Given the description of an element on the screen output the (x, y) to click on. 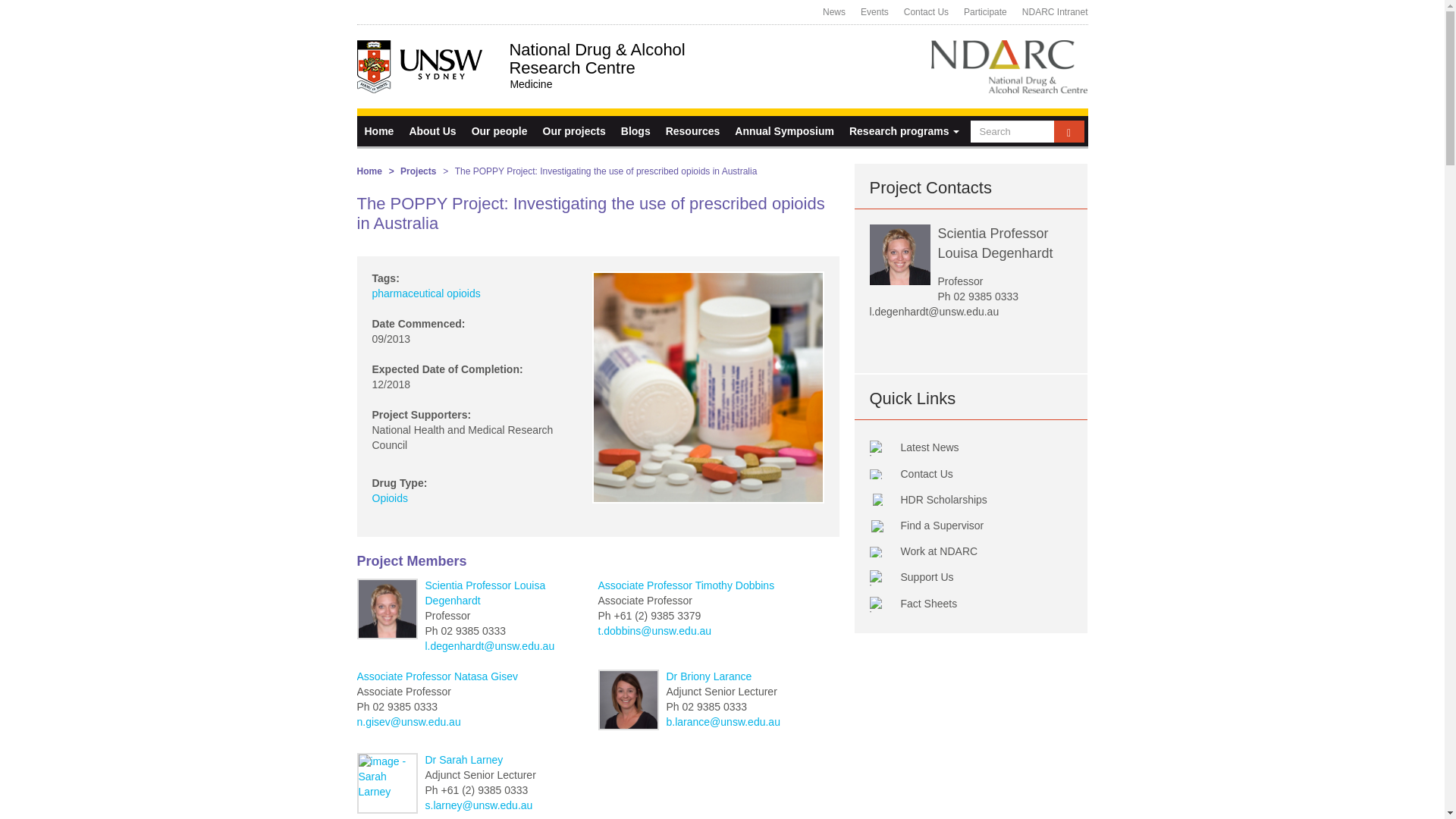
Participate (985, 12)
Events (874, 12)
Contact Us (926, 12)
NDARC Intranet (1050, 12)
News (834, 12)
Projects (573, 131)
Home (368, 171)
Our people (499, 131)
Projects (417, 171)
Contact us (926, 12)
News (834, 12)
UNSW Medicine (596, 84)
Events (874, 12)
Resources (693, 131)
